Given the description of an element on the screen output the (x, y) to click on. 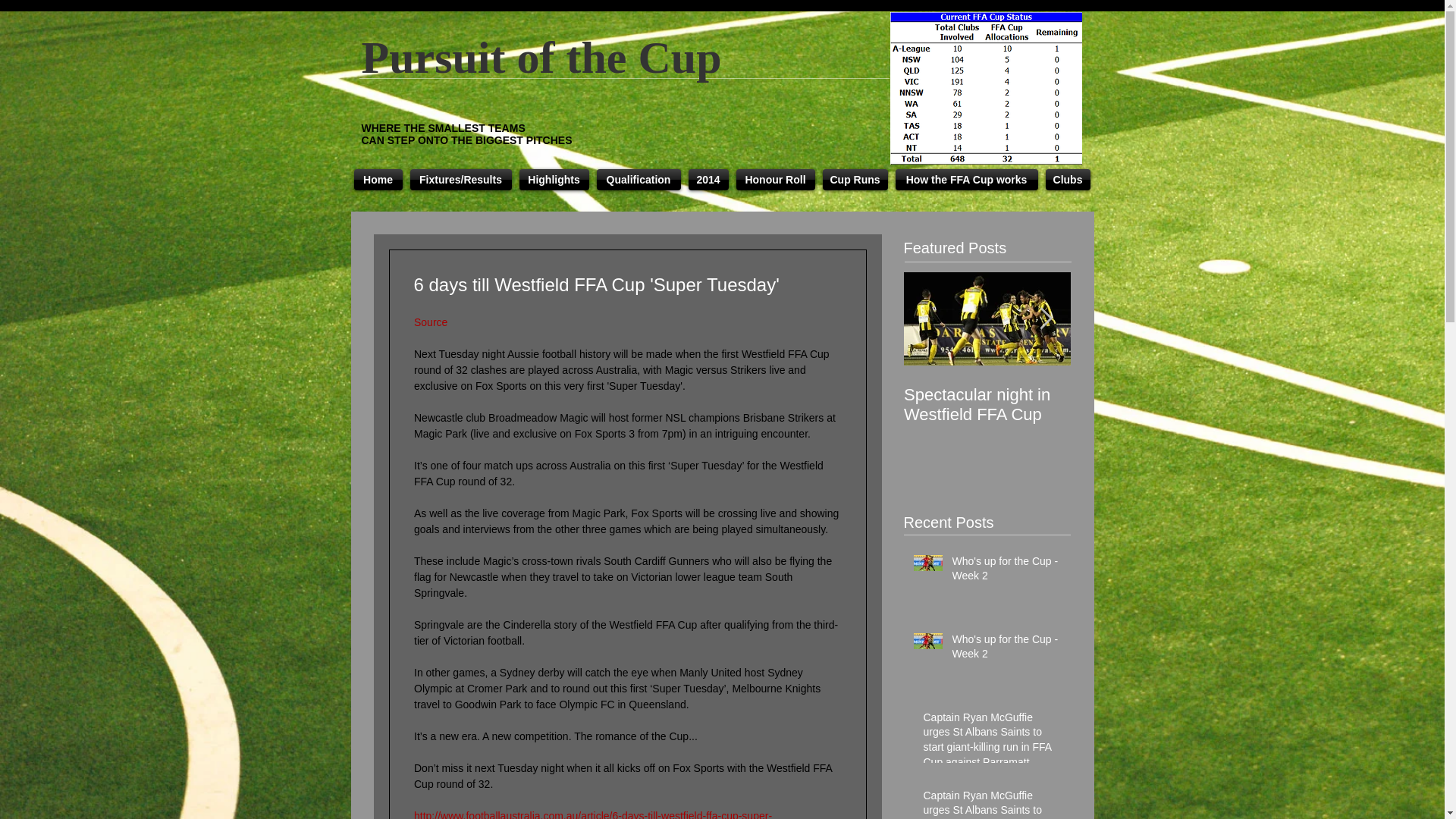
Source (429, 322)
Who's up for the Cup - Week 2 (1006, 650)
Spectacular night in Westfield FFA Cup (987, 404)
Who's up for the Cup - Week 2 (1006, 571)
Spectacular night in Westfield FFA Cup (1153, 404)
